Given the description of an element on the screen output the (x, y) to click on. 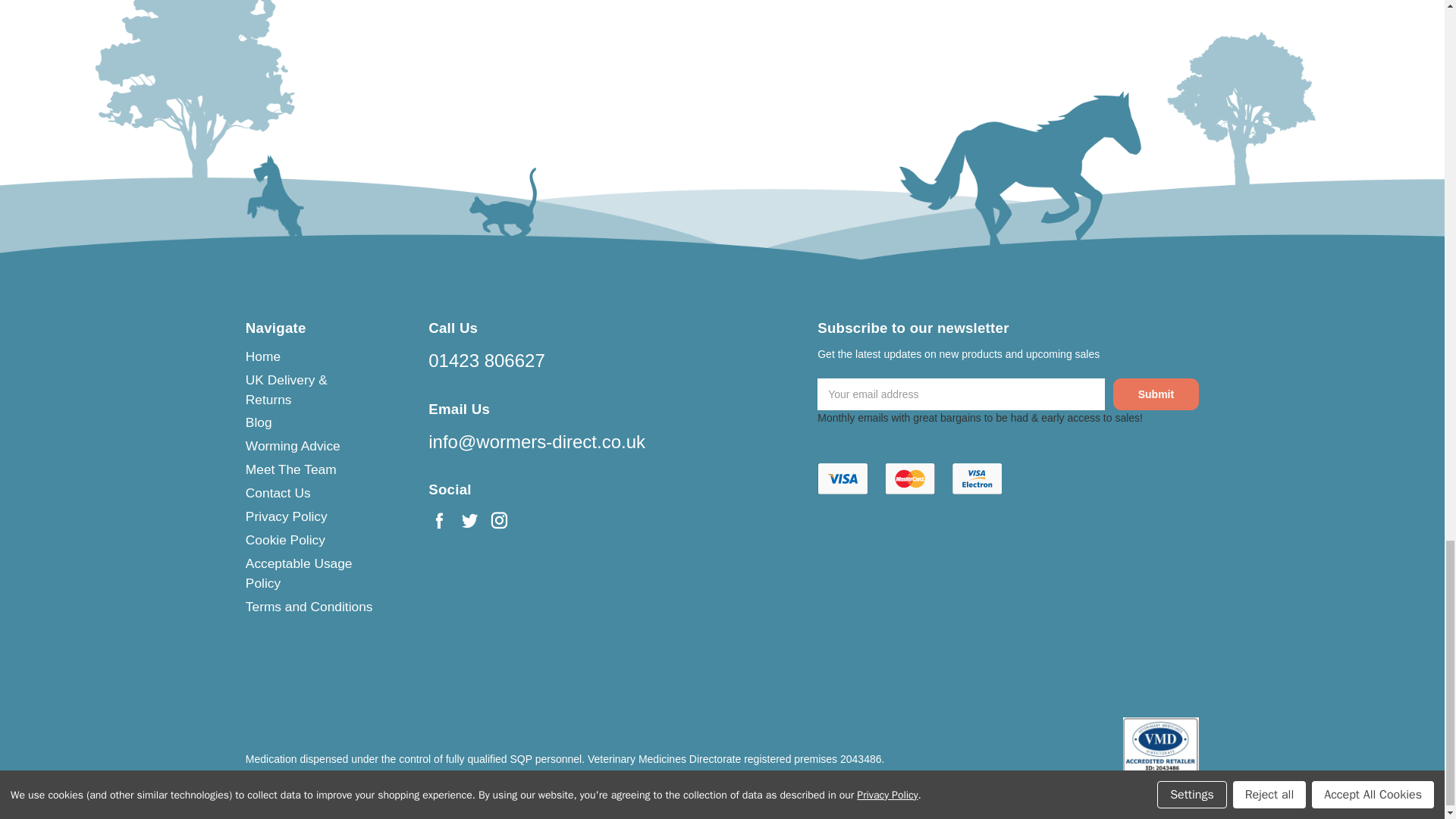
Submit (1155, 394)
